Given the description of an element on the screen output the (x, y) to click on. 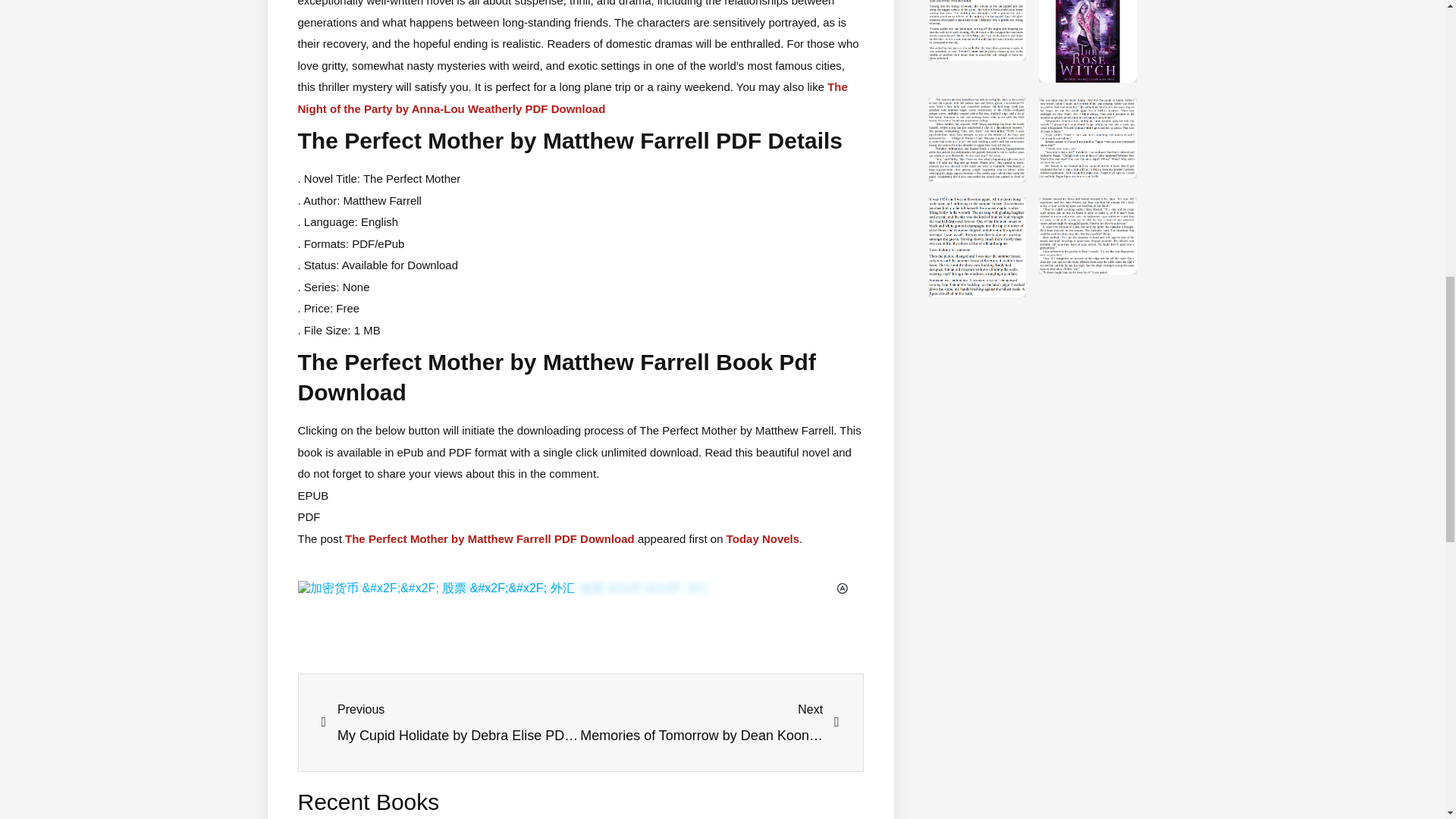
Today Novels (762, 538)
The Perfect Mother by Matthew Farrell PDF Download (709, 722)
The Night of the Party by Anna-Lou Weatherly PDF Download (489, 538)
